Given the description of an element on the screen output the (x, y) to click on. 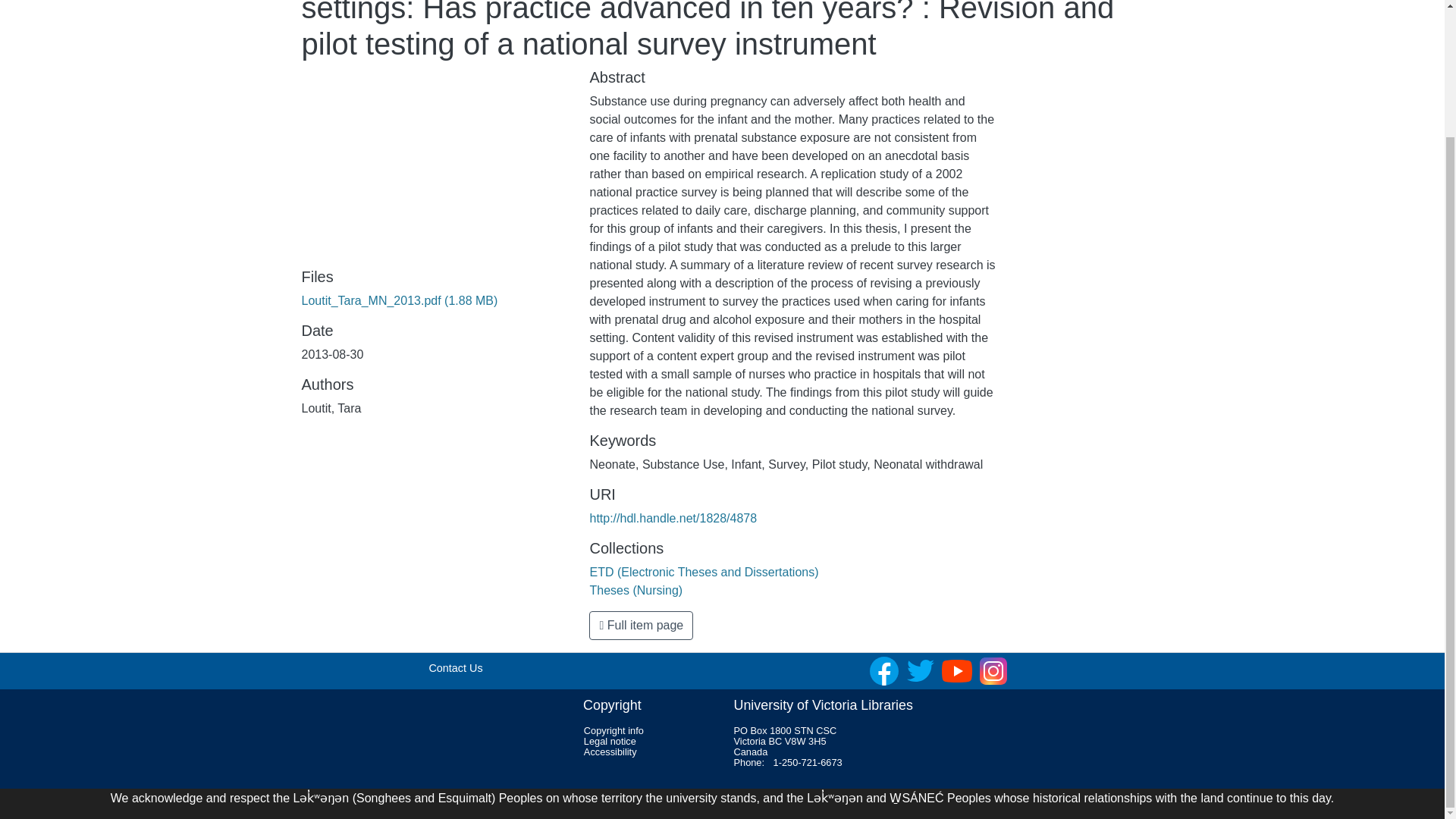
Contact Us (454, 667)
Full item page (641, 624)
